Given the description of an element on the screen output the (x, y) to click on. 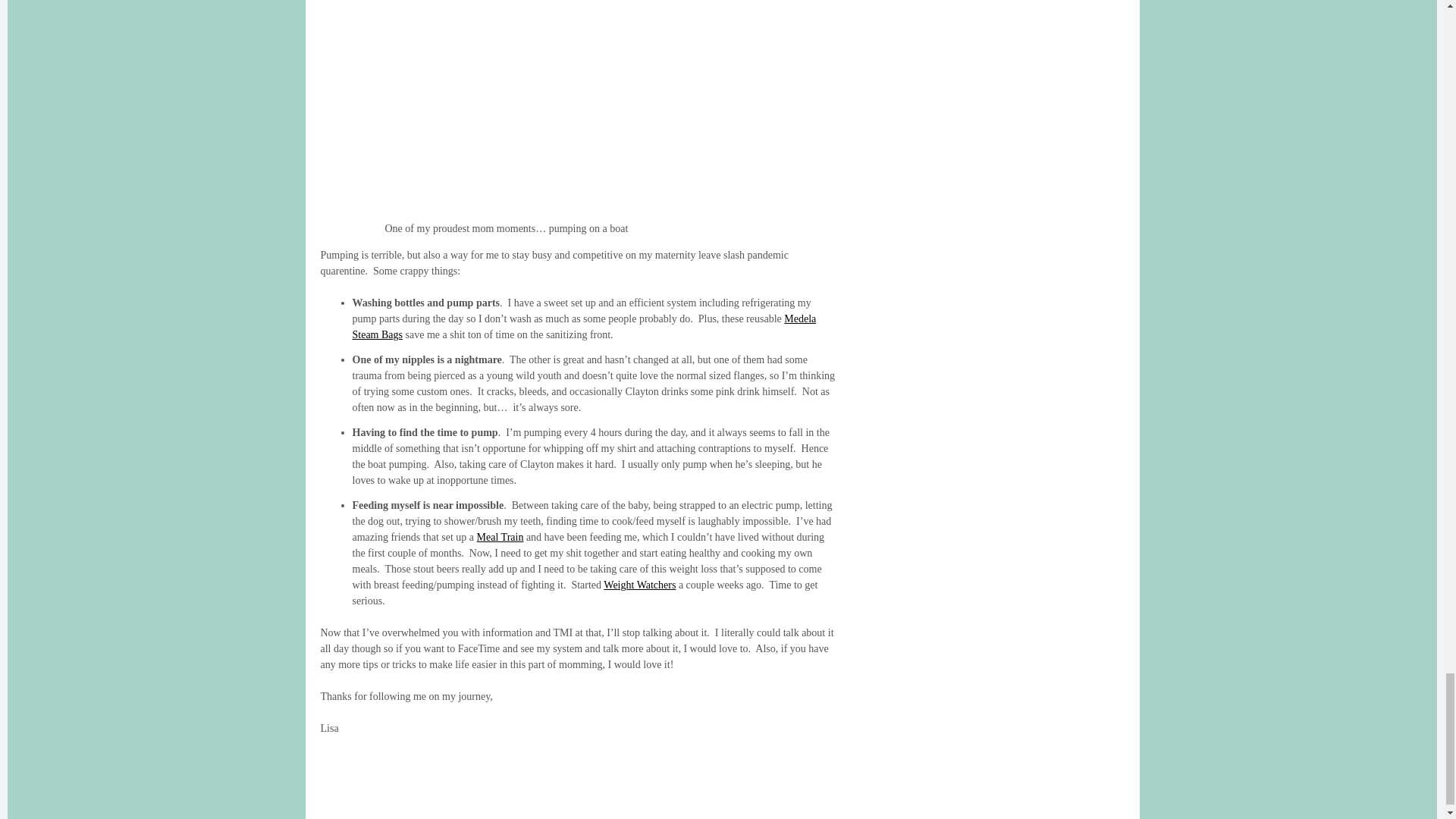
Medela Steam Bags (583, 326)
Weight Watchers (639, 584)
Meal Train (500, 536)
